Given the description of an element on the screen output the (x, y) to click on. 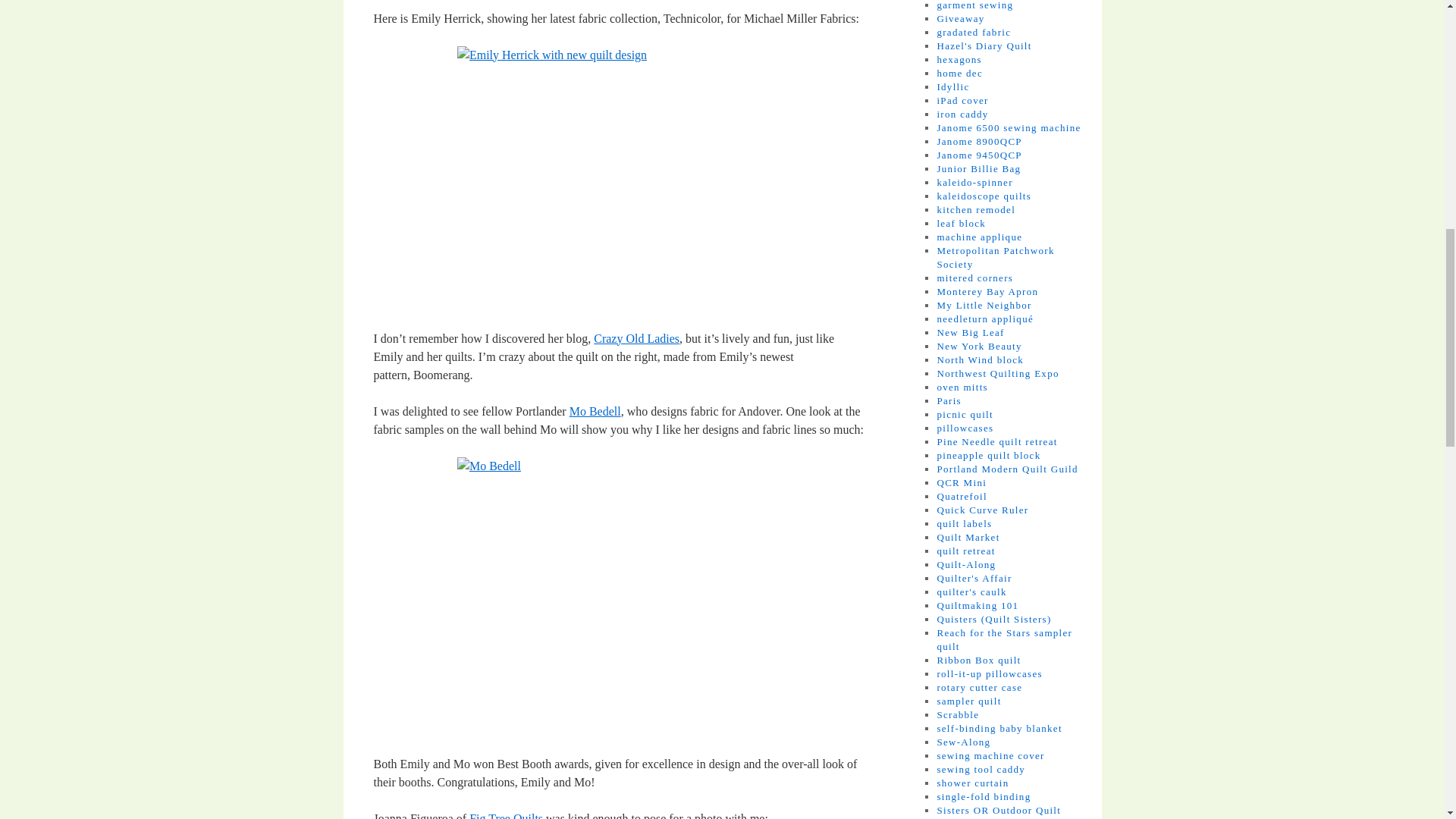
Fig Tree Quilts (505, 815)
Mo Bedell (595, 410)
Crazy Old Ladies (636, 338)
